Given the description of an element on the screen output the (x, y) to click on. 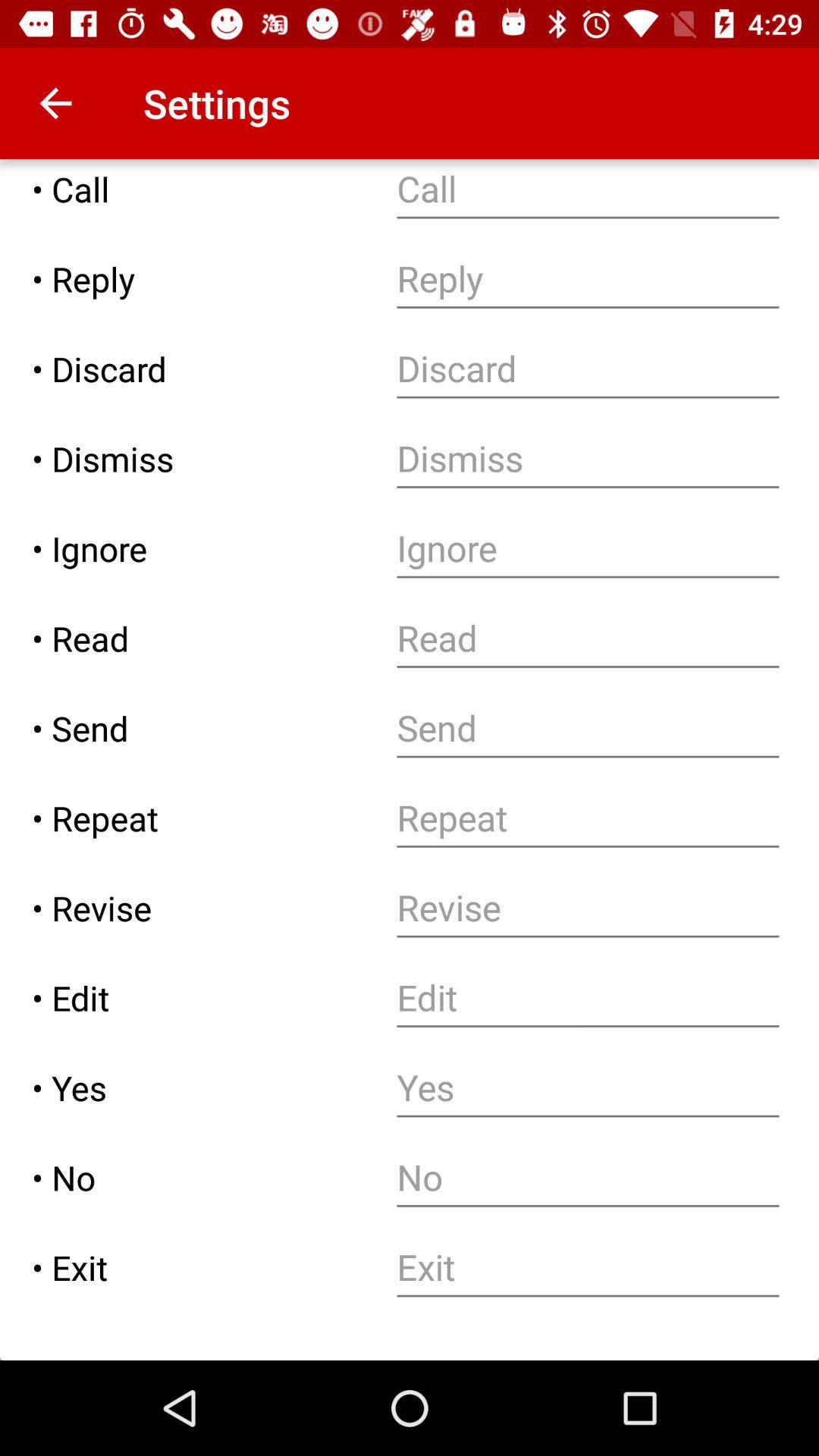
ignore certain callers (588, 548)
